Given the description of an element on the screen output the (x, y) to click on. 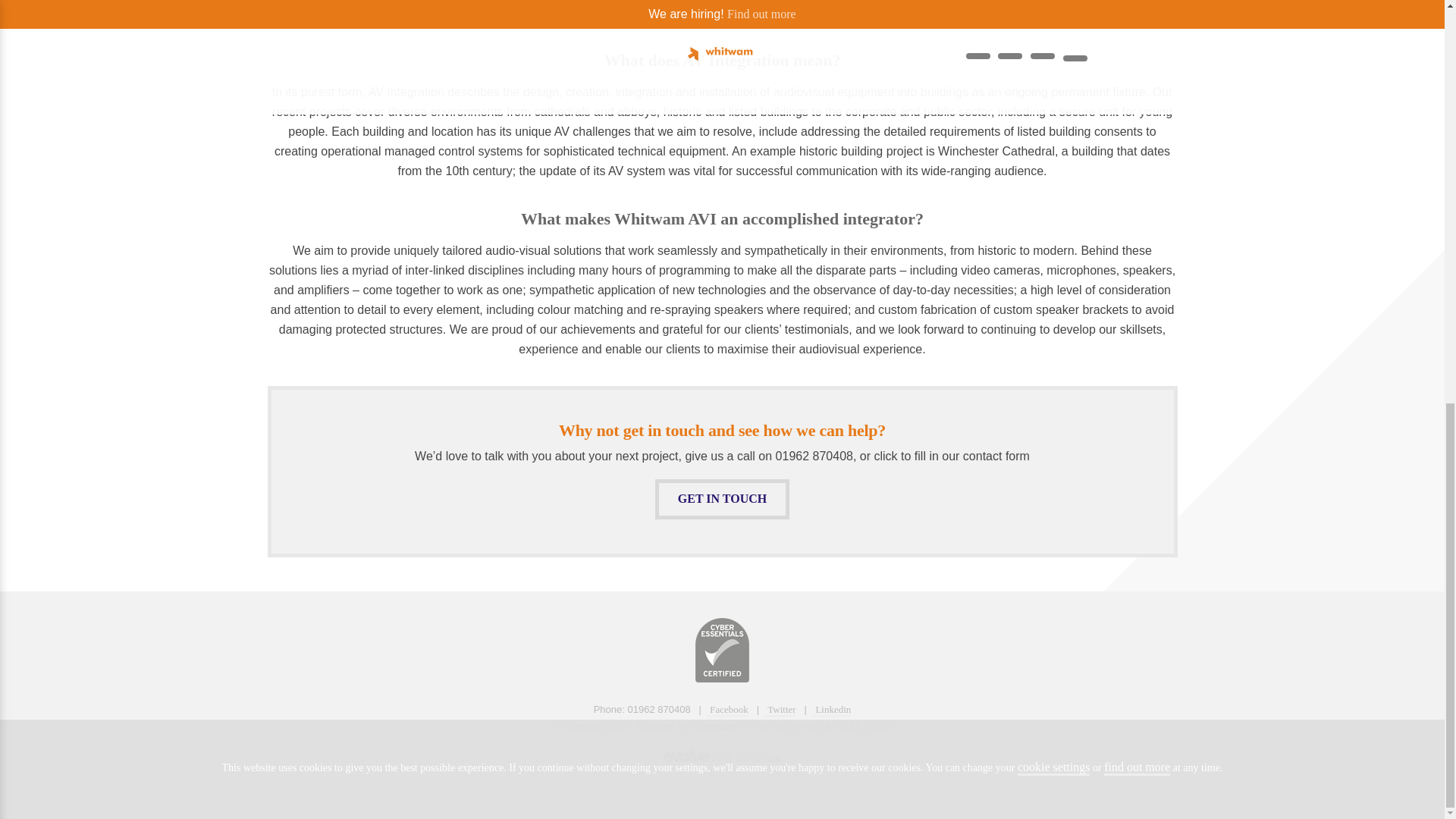
GET IN TOUCH (722, 499)
Evolve Websites (721, 753)
